Given the description of an element on the screen output the (x, y) to click on. 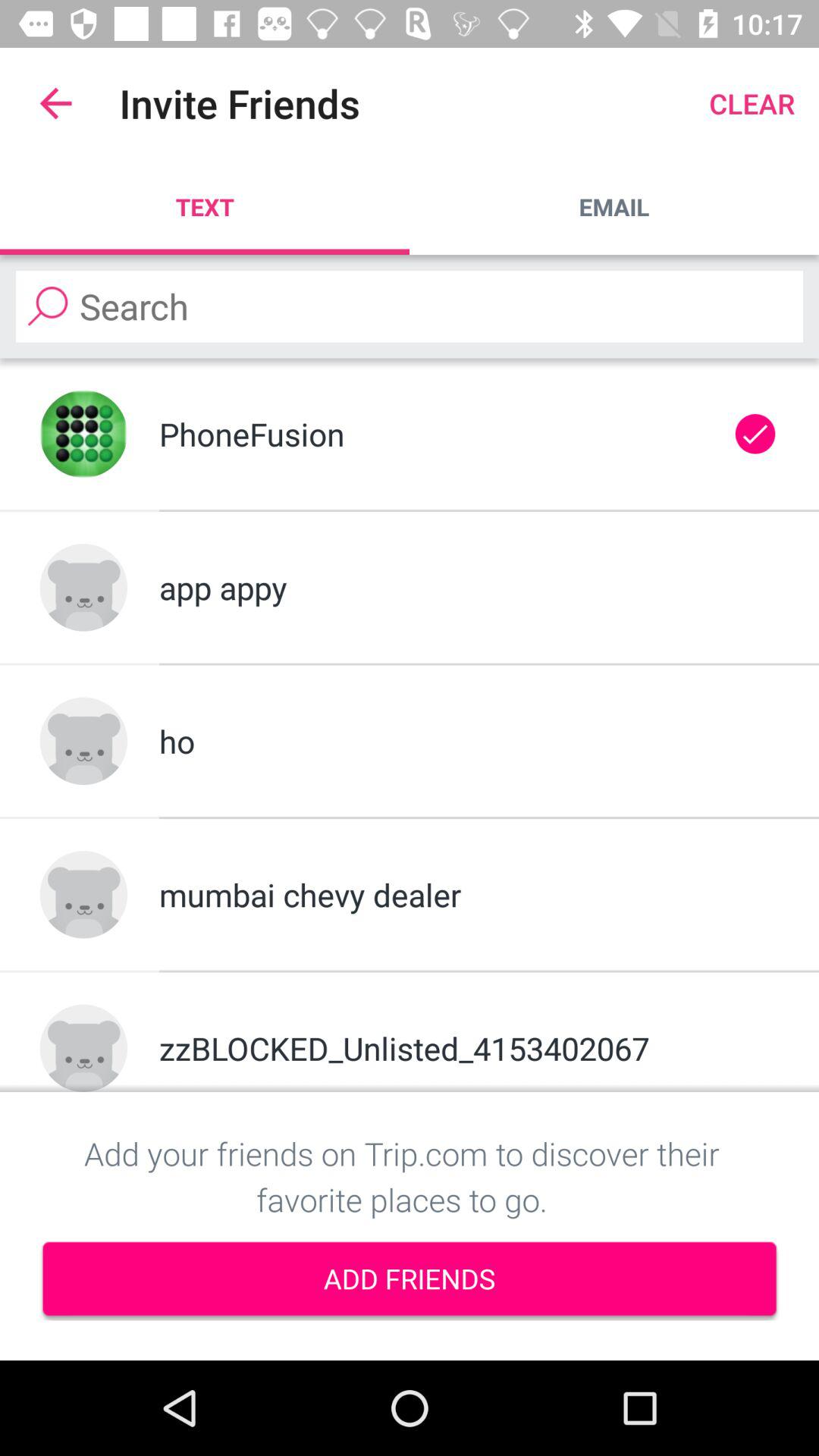
open the text (204, 206)
